Given the description of an element on the screen output the (x, y) to click on. 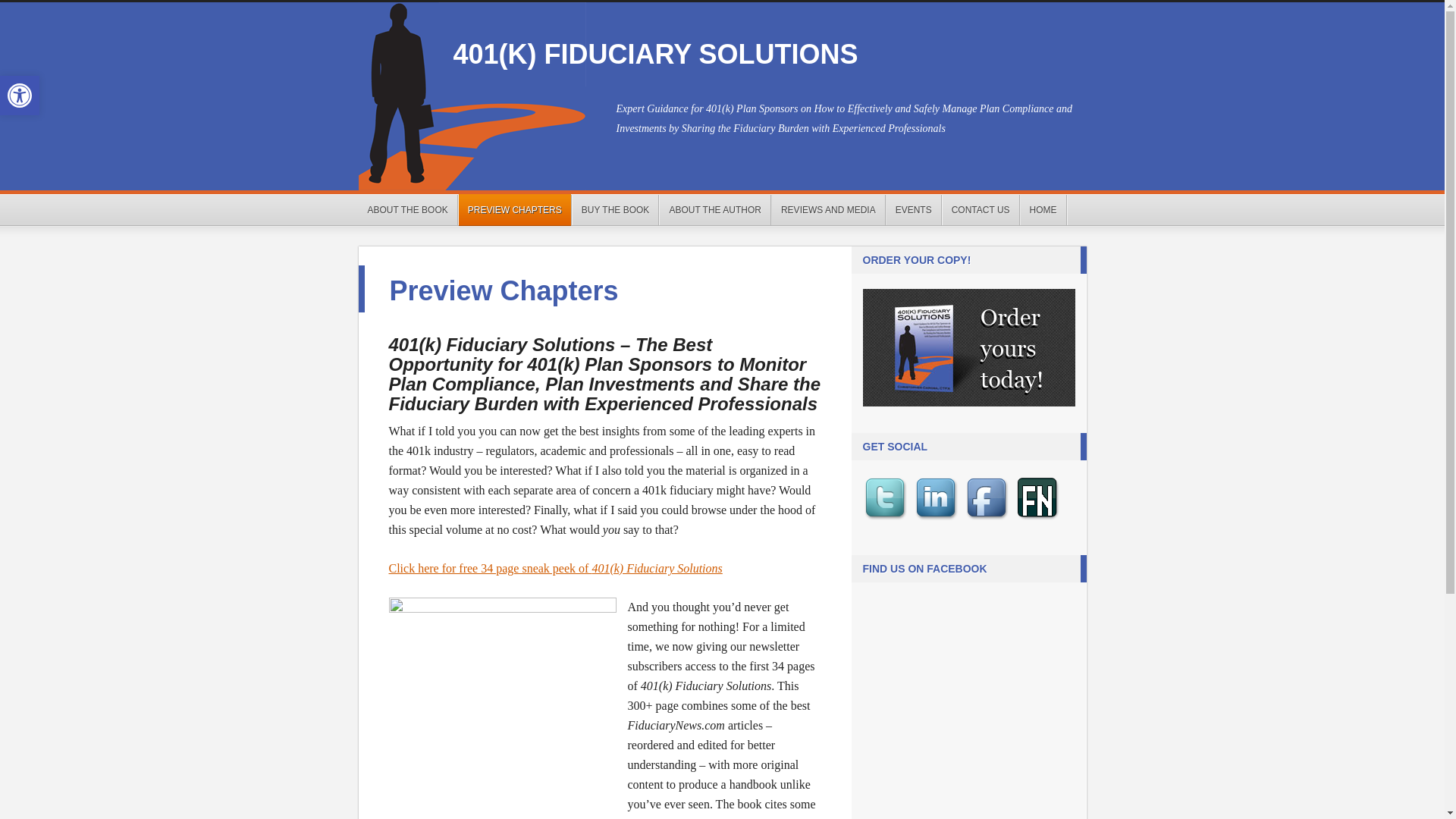
Follow Fiduciary News on Twitter Element type: hover (886, 520)
ABOUT THE AUTHOR Element type: text (714, 209)
ABOUT THE BOOK Element type: text (406, 209)
EVENTS Element type: text (913, 209)
HOME Element type: text (1043, 209)
PREVIEW CHAPTERS Element type: text (514, 209)
Find us on Facebook Element type: hover (988, 520)
Open toolbar
Accessibility Tools Element type: text (19, 95)
401(K) FIDUCIARY SOLUTIONS Element type: text (655, 53)
The Fiduciary News LinkedIn Group Element type: hover (937, 520)
BUY THE BOOK Element type: text (615, 209)
CONTACT US Element type: text (980, 209)
Go to FiduciaryNews.com Element type: hover (1039, 520)
REVIEWS AND MEDIA Element type: text (827, 209)
